Given the description of an element on the screen output the (x, y) to click on. 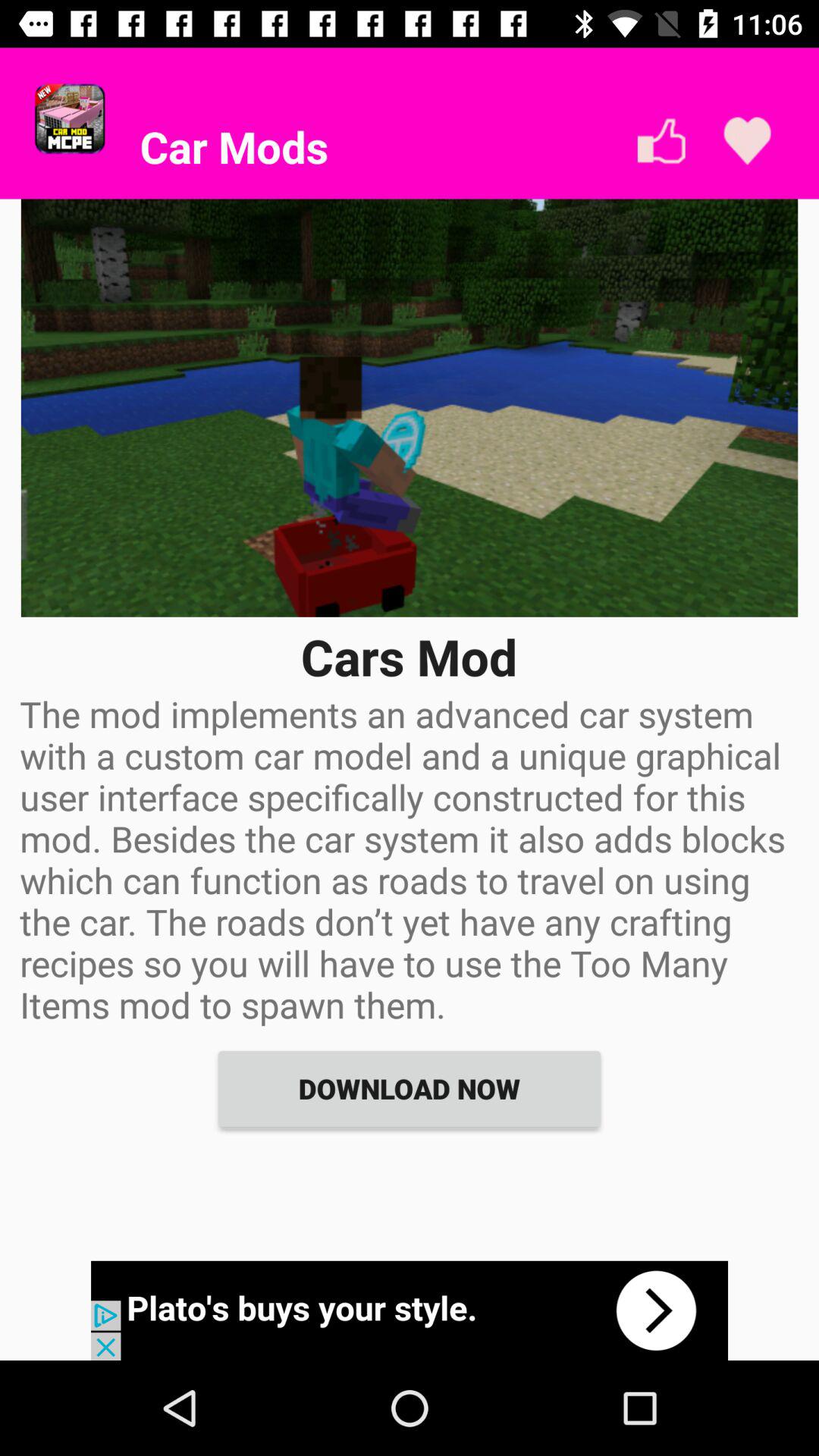
love selection (747, 140)
